Given the description of an element on the screen output the (x, y) to click on. 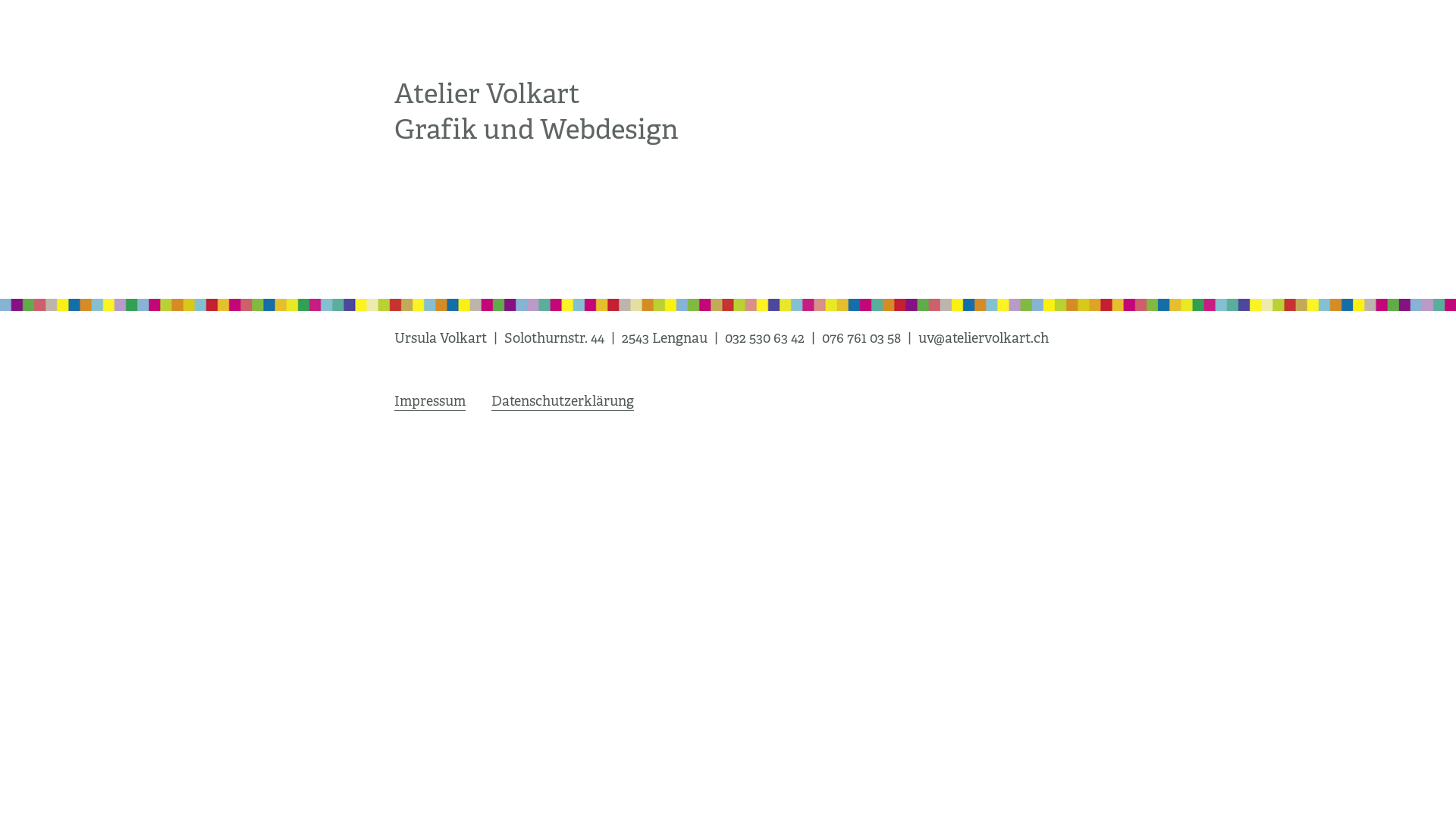
032 530 63 42 Element type: text (764, 338)
Impressum Element type: text (429, 401)
uv@ateliervolkart.ch Element type: text (983, 338)
076 761 03 58 Element type: text (861, 338)
